Given the description of an element on the screen output the (x, y) to click on. 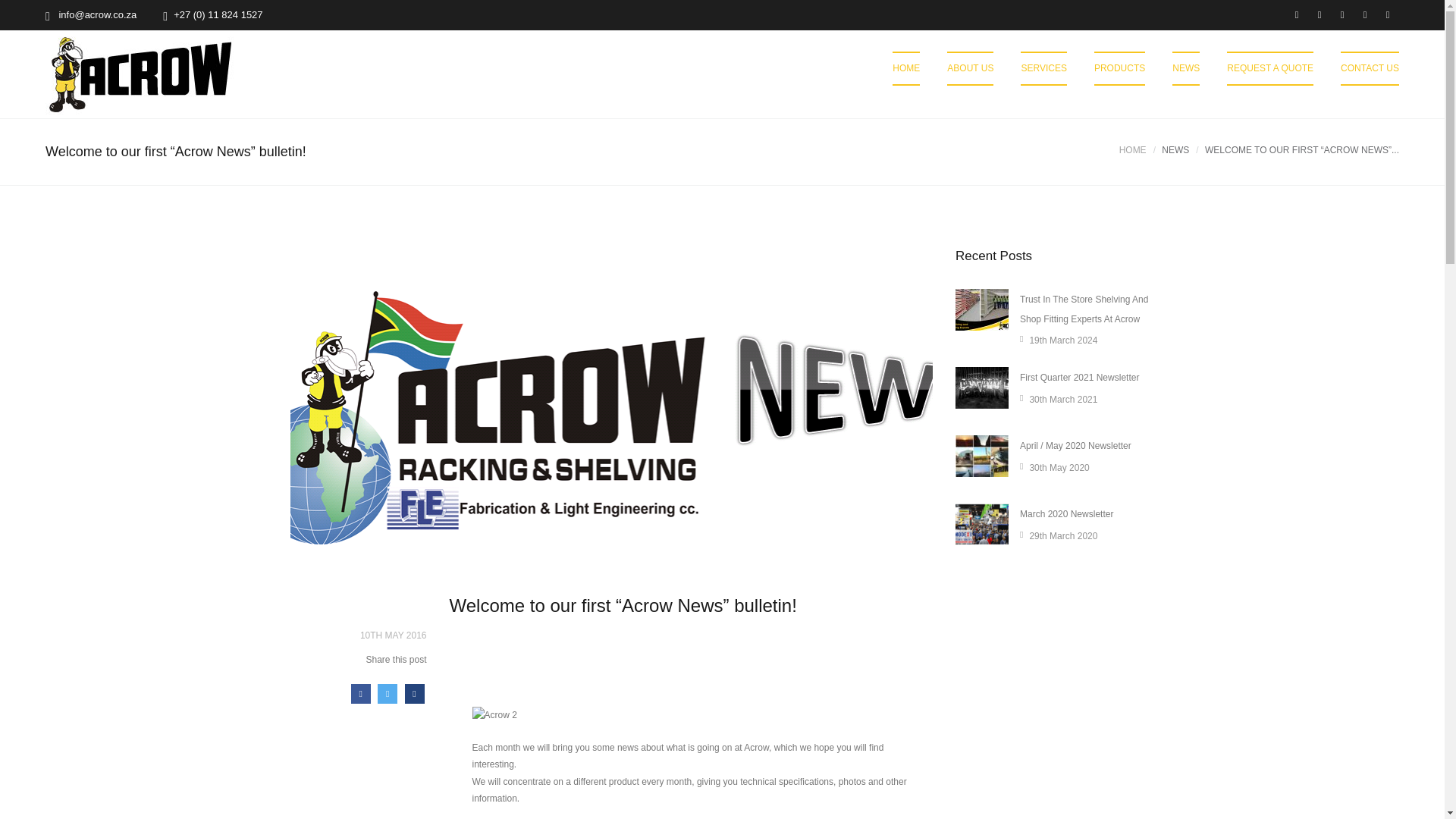
HOME (1133, 149)
REQUEST A QUOTE (1270, 68)
CONTACT US (1369, 68)
SERVICES (1042, 68)
NEWS (1175, 149)
NEWS (1185, 68)
PRODUCTS (1119, 68)
HOME (906, 68)
ABOUT US (969, 68)
